Given the description of an element on the screen output the (x, y) to click on. 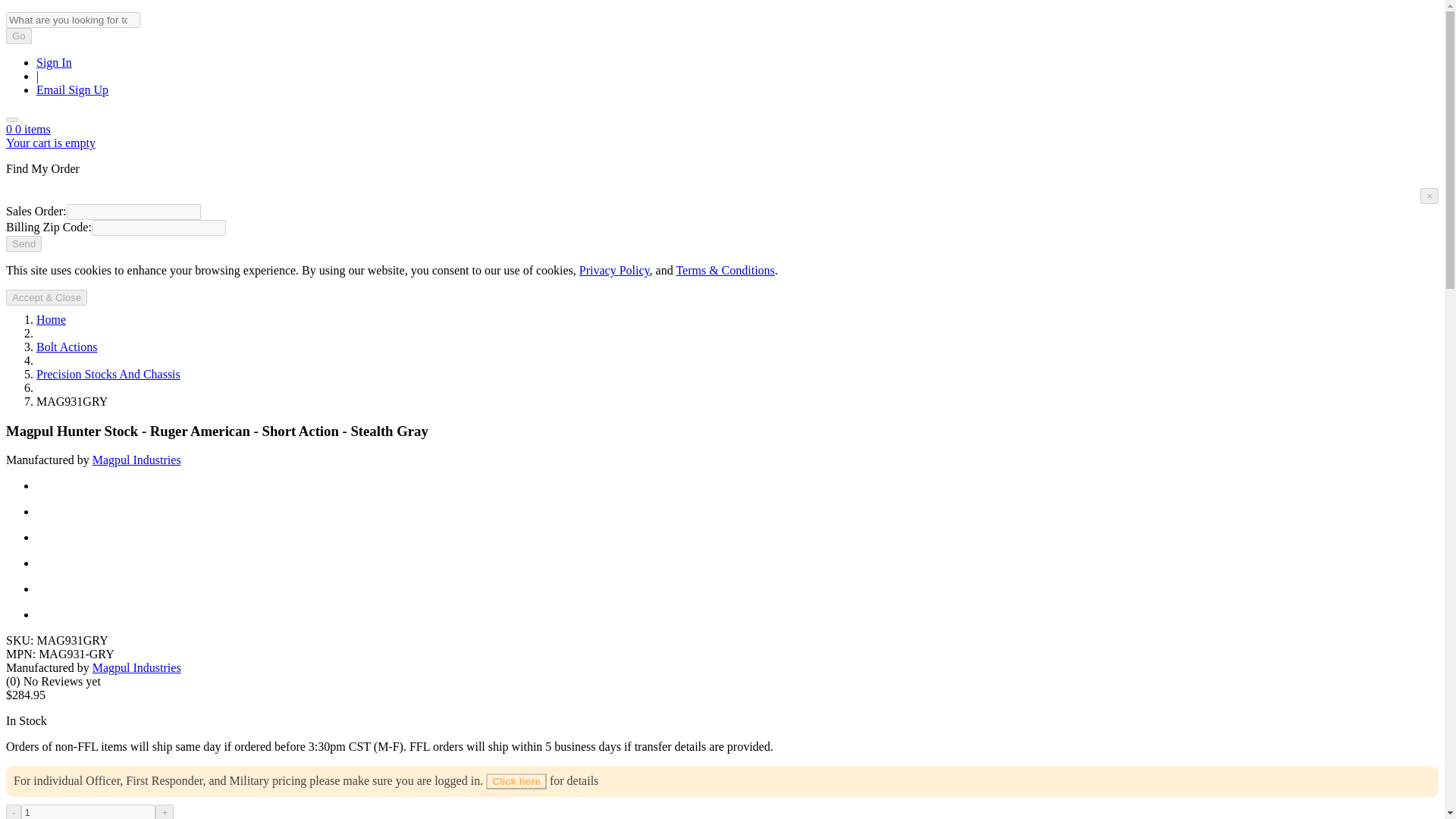
Sign In (53, 62)
1 (88, 811)
0 0 items (27, 128)
Bolt Actions (66, 346)
Magpul Industries (136, 667)
Your cart is empty (50, 142)
Go (18, 35)
Home (50, 318)
Email Sign Up (71, 89)
Magpul Industries (136, 459)
- (13, 811)
Send (23, 243)
Click here (516, 781)
Search (11, 119)
Cart (27, 128)
